Given the description of an element on the screen output the (x, y) to click on. 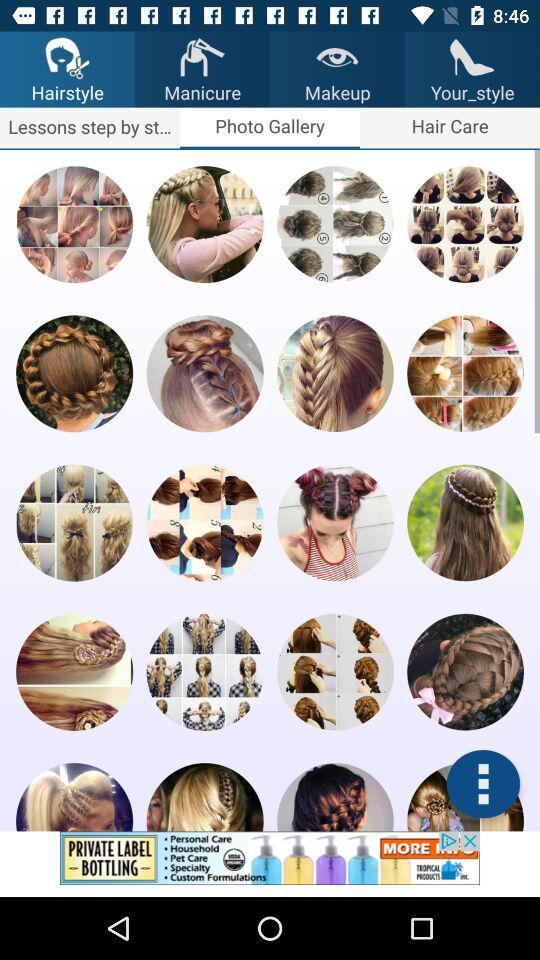
open photo (335, 373)
